Given the description of an element on the screen output the (x, y) to click on. 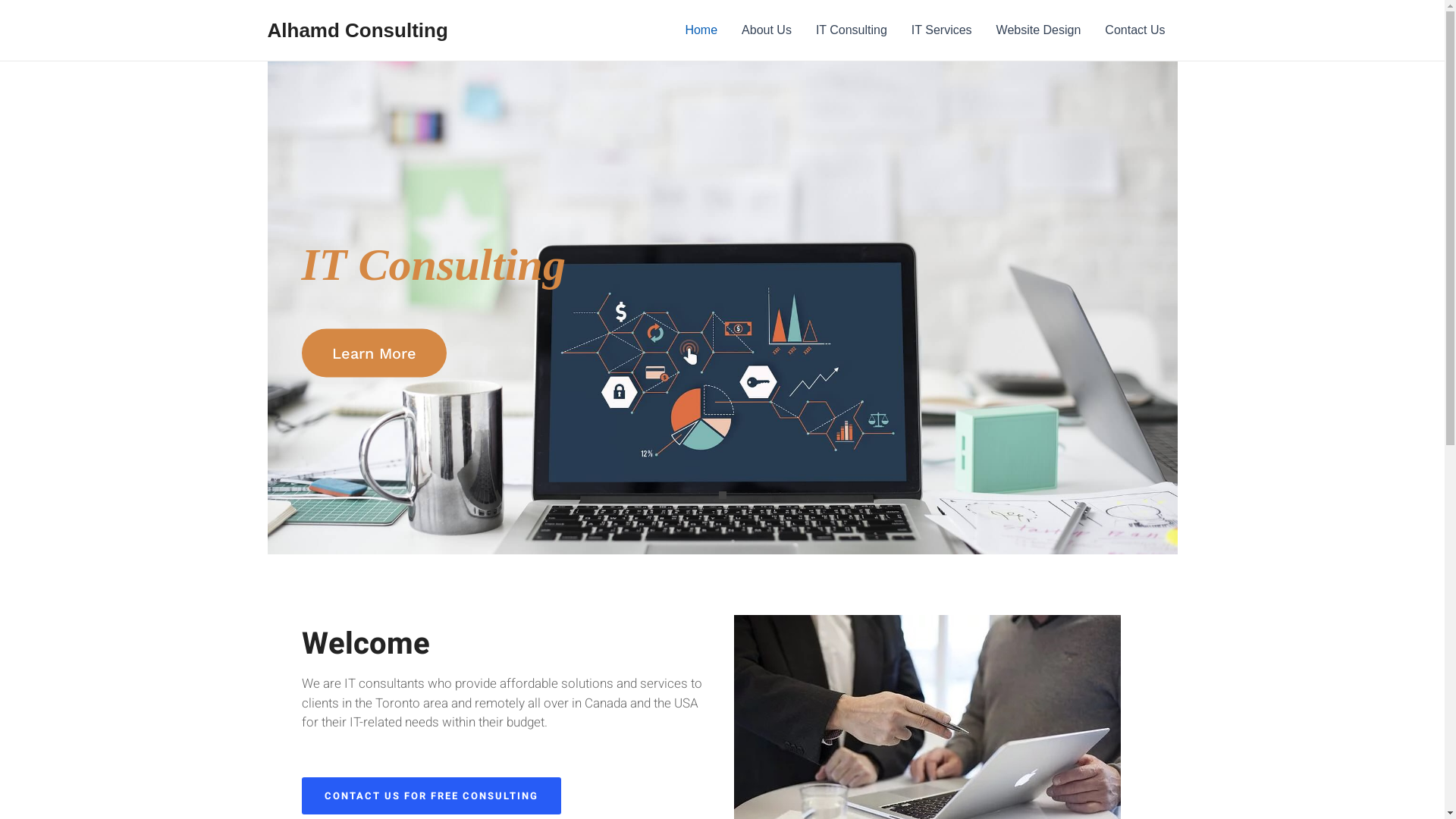
Website Design Element type: text (1038, 30)
Learn More Element type: text (373, 353)
IT Services Element type: text (941, 30)
CONTACT US FOR FREE CONSULTING Element type: text (431, 795)
Contact Us Element type: text (1134, 30)
Home Element type: text (700, 30)
About Us Element type: text (766, 30)
Alhamd Consulting Element type: text (356, 29)
IT Consulting Element type: text (851, 30)
1 Element type: text (722, 494)
